Given the description of an element on the screen output the (x, y) to click on. 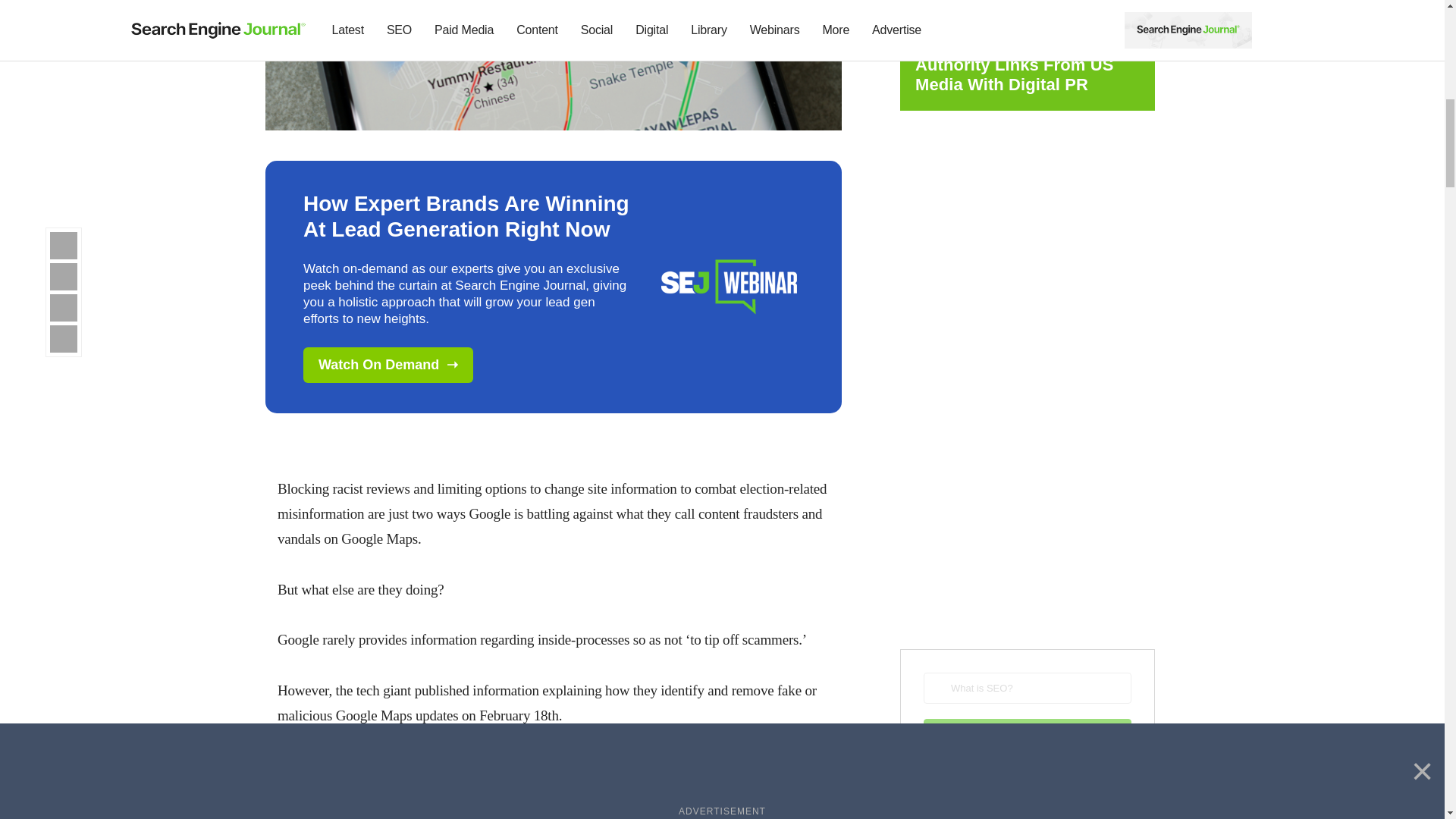
SEARCH (1027, 734)
SEARCH (1027, 734)
